Given the description of an element on the screen output the (x, y) to click on. 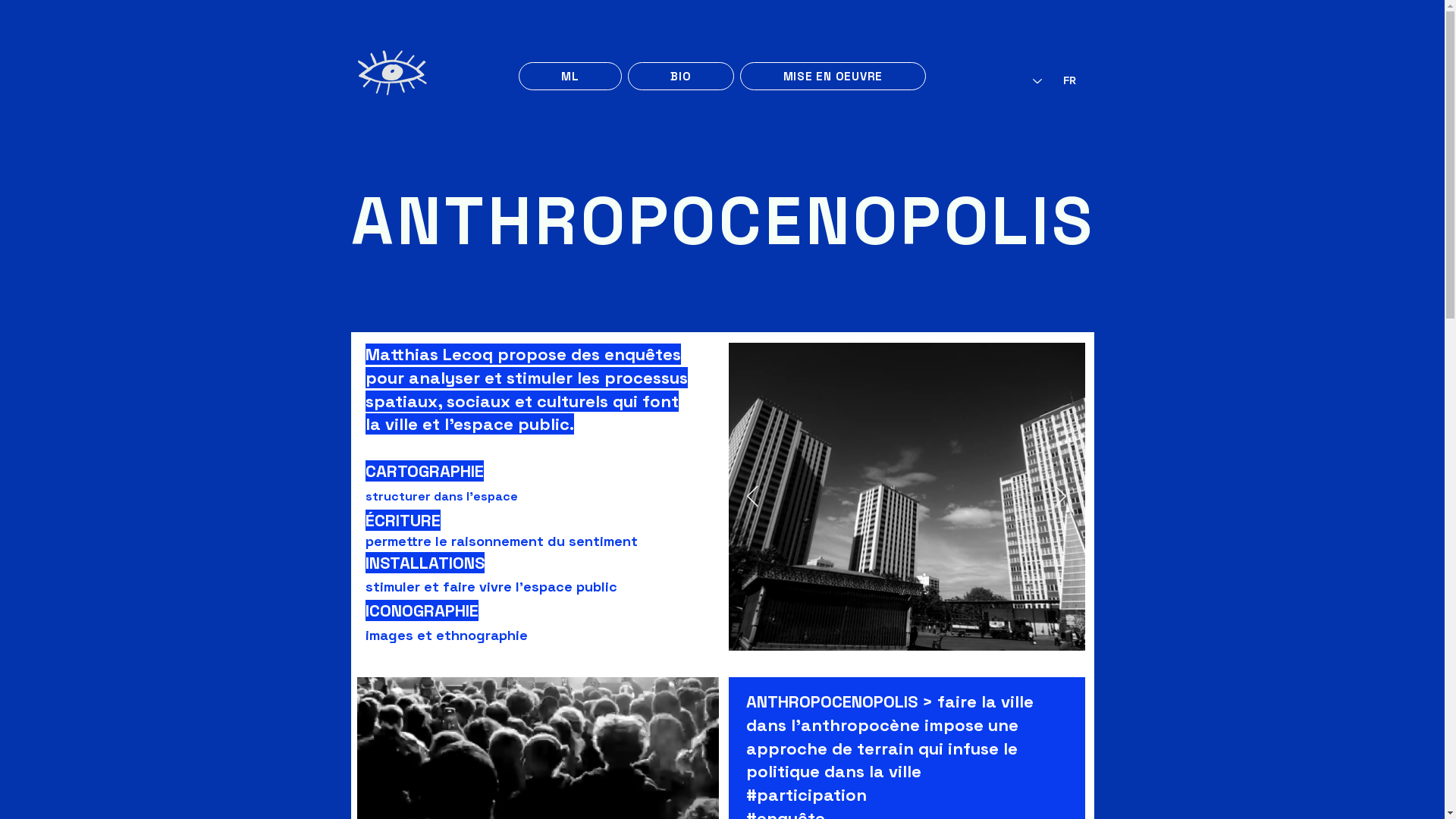
ML Element type: text (569, 76)
BIO Element type: text (680, 76)
MISE EN OEUVRE Element type: text (832, 76)
